Given the description of an element on the screen output the (x, y) to click on. 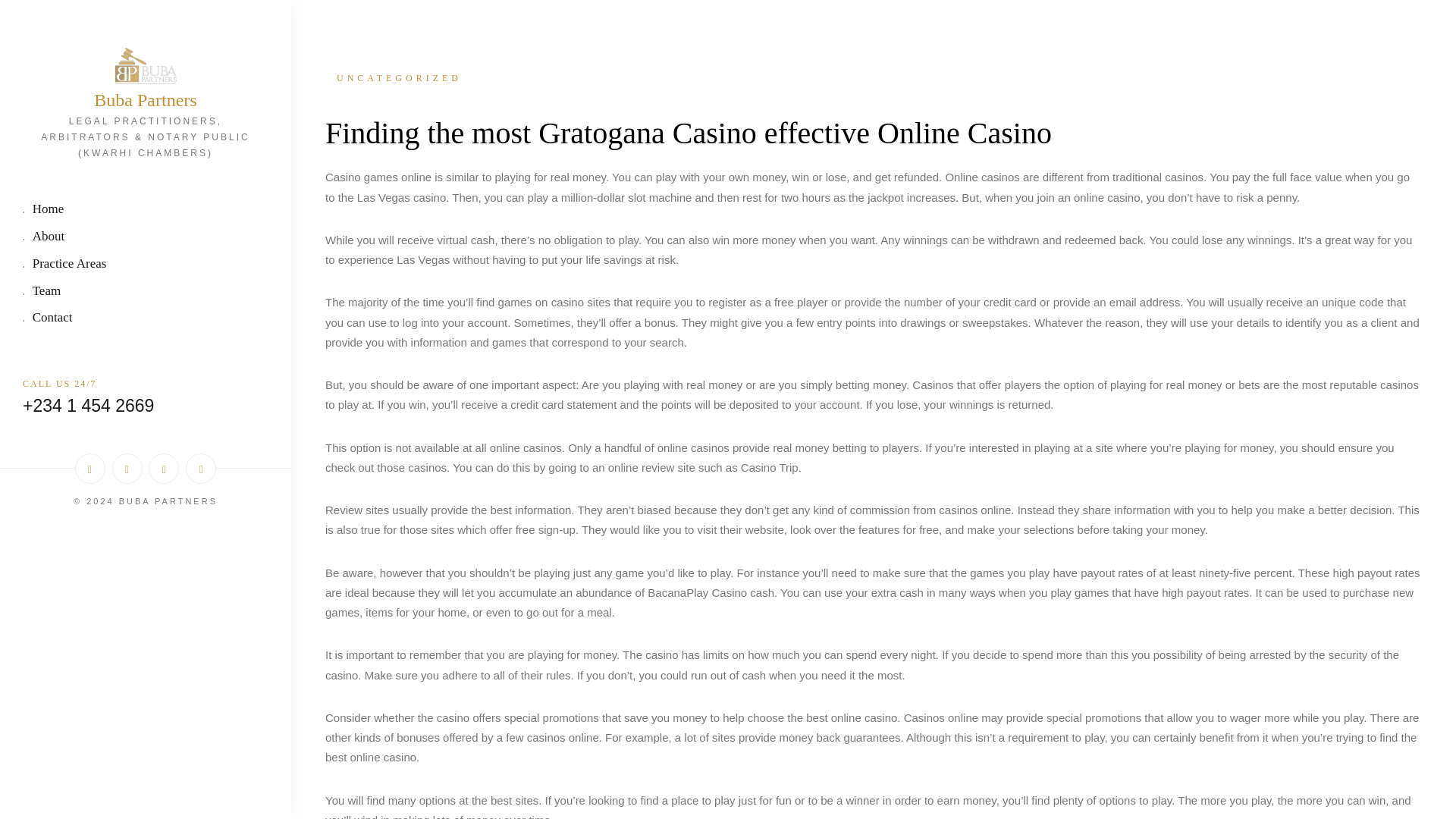
About (145, 237)
Contact (145, 318)
uncategorized (873, 77)
Home (145, 210)
BacanaPlay Casino (696, 592)
Home (145, 210)
Team (145, 292)
Contact (145, 318)
Practice Areas (145, 264)
About (145, 237)
Buba Partners (145, 99)
Team (145, 292)
Gratogana Casino (647, 133)
Practice Areas (145, 264)
